Given the description of an element on the screen output the (x, y) to click on. 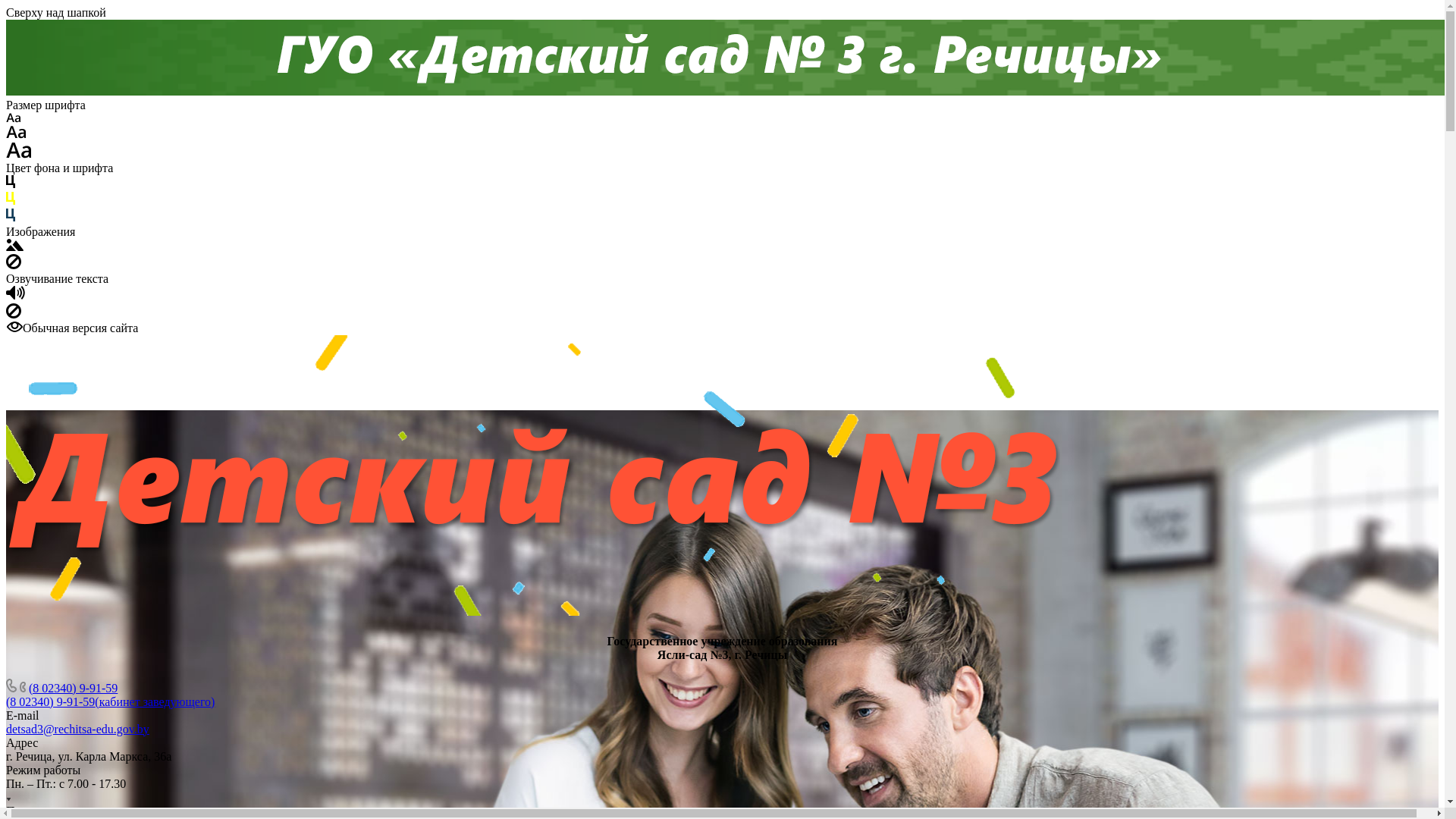
detsad3@rechitsa-edu.gov.by Element type: text (77, 728)
rechicasad3.by Element type: hover (533, 475)
(8 02340) 9-91-59 Element type: text (72, 687)
